Given the description of an element on the screen output the (x, y) to click on. 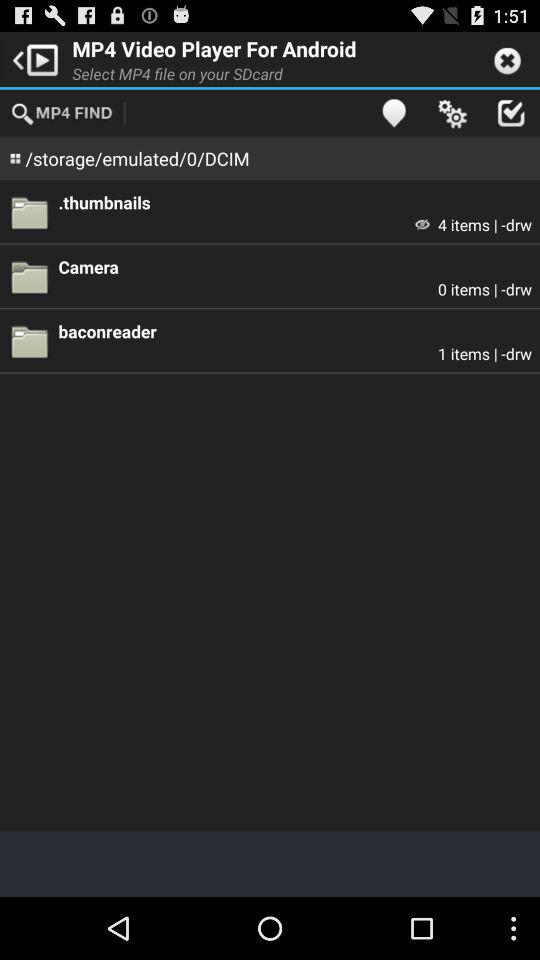
tap app next to mp4 video player icon (32, 58)
